Given the description of an element on the screen output the (x, y) to click on. 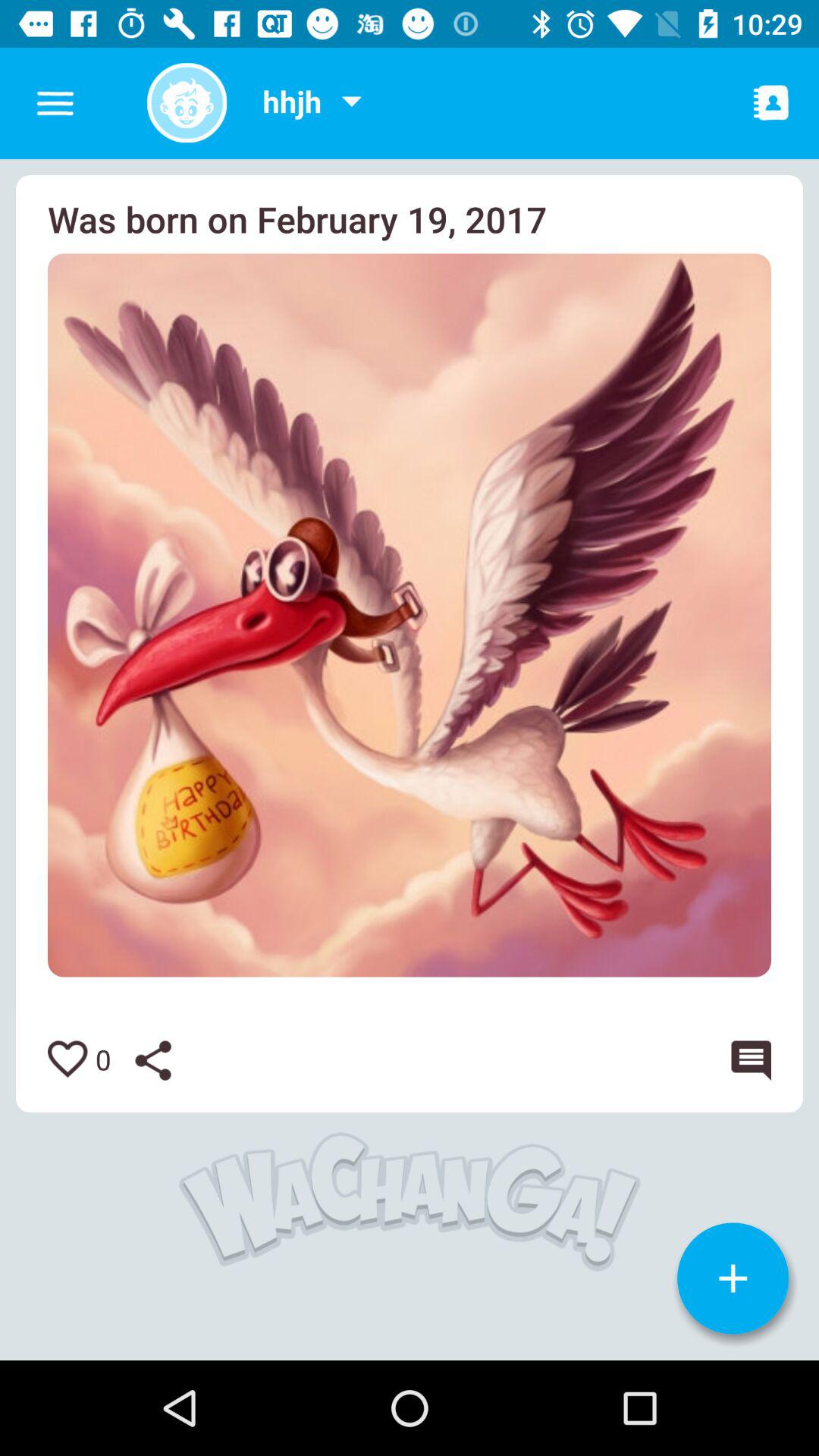
add a comment (747, 1060)
